Given the description of an element on the screen output the (x, y) to click on. 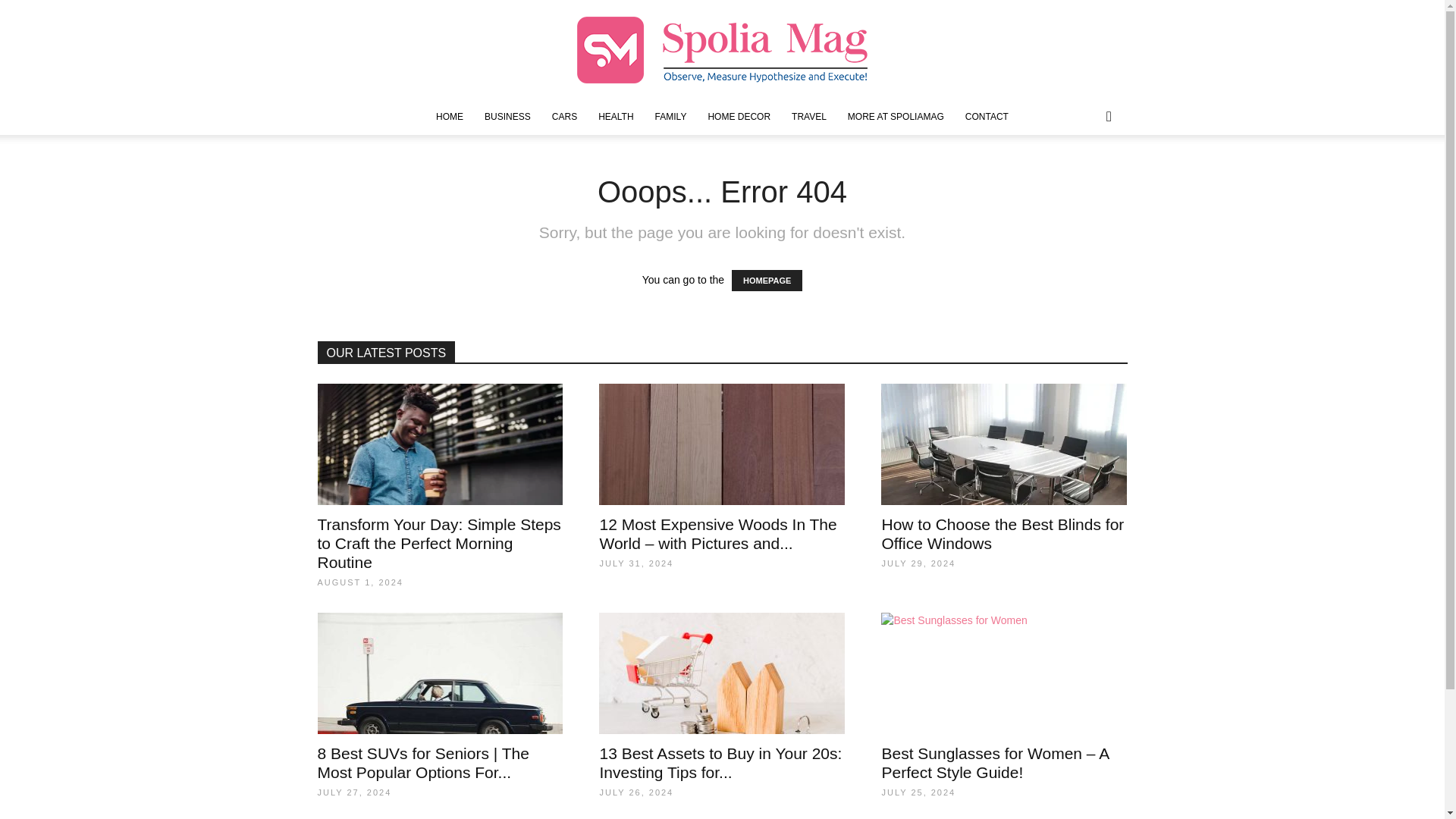
Spolia Mag - Enhance you Lifestyle (721, 49)
How to Choose the Best Blinds for Office Windows (1002, 533)
How to Choose the Best Blinds for Office Windows (1003, 444)
